Given the description of an element on the screen output the (x, y) to click on. 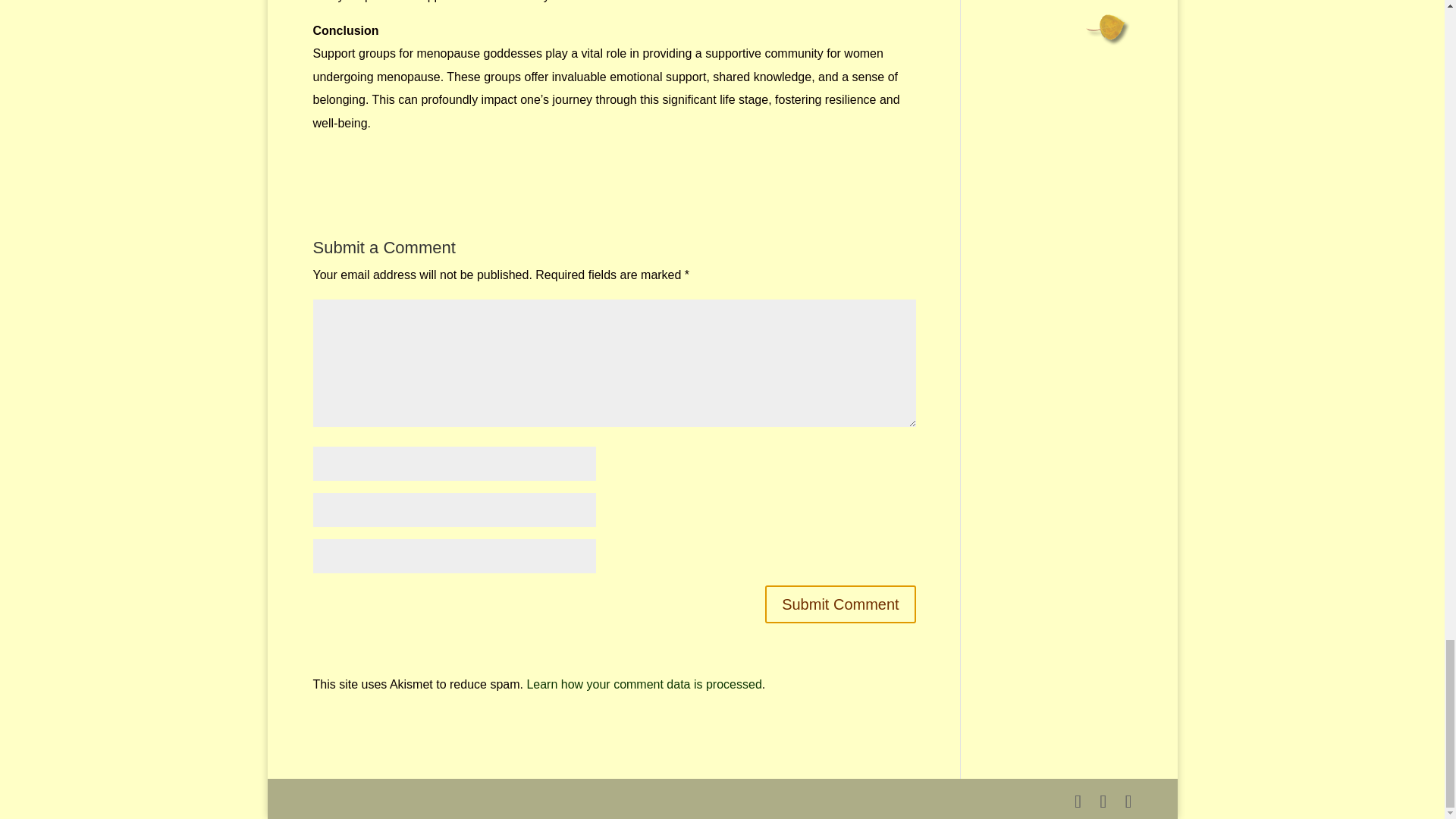
Submit Comment (840, 604)
